Given the description of an element on the screen output the (x, y) to click on. 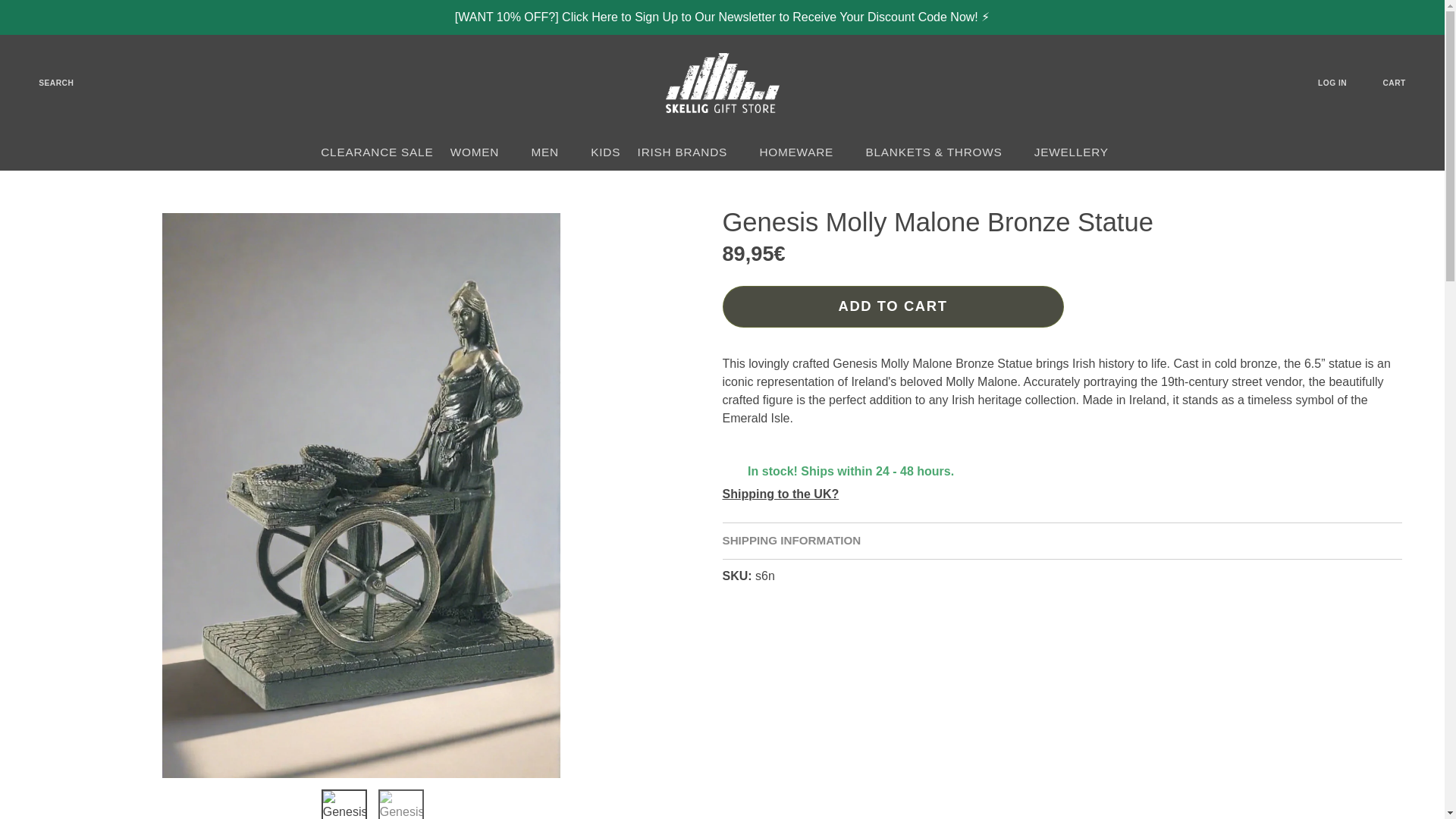
KIDS (605, 151)
IRISH BRANDS (689, 151)
SEARCH (45, 83)
CART (1403, 83)
MEN (552, 151)
CLEARANCE SALE (377, 151)
LOG IN (1342, 83)
WOMEN (482, 151)
